Given the description of an element on the screen output the (x, y) to click on. 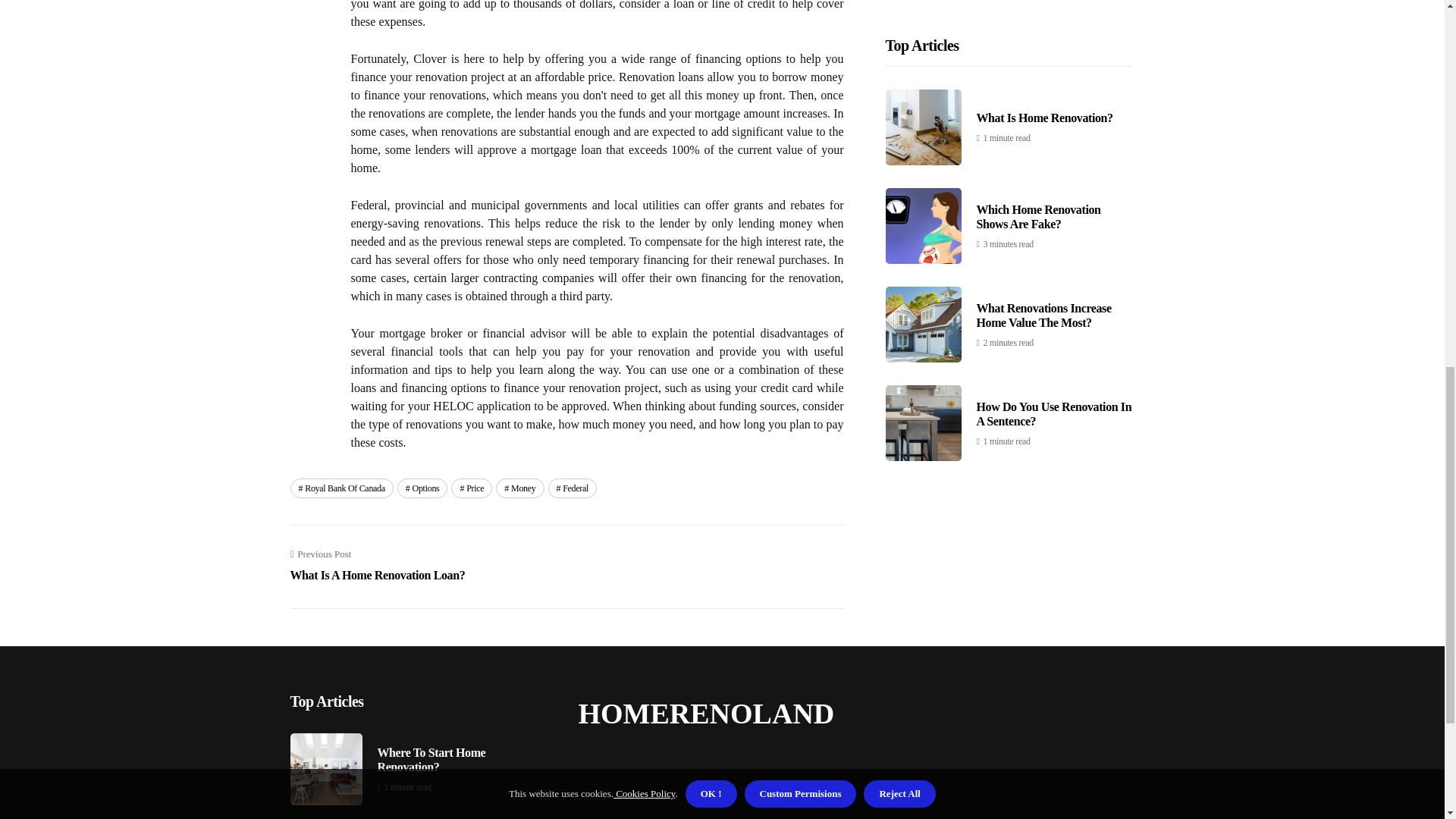
Options (422, 487)
Price (471, 487)
Federal (572, 487)
Royal Bank Of Canada (376, 565)
Money (341, 487)
